Given the description of an element on the screen output the (x, y) to click on. 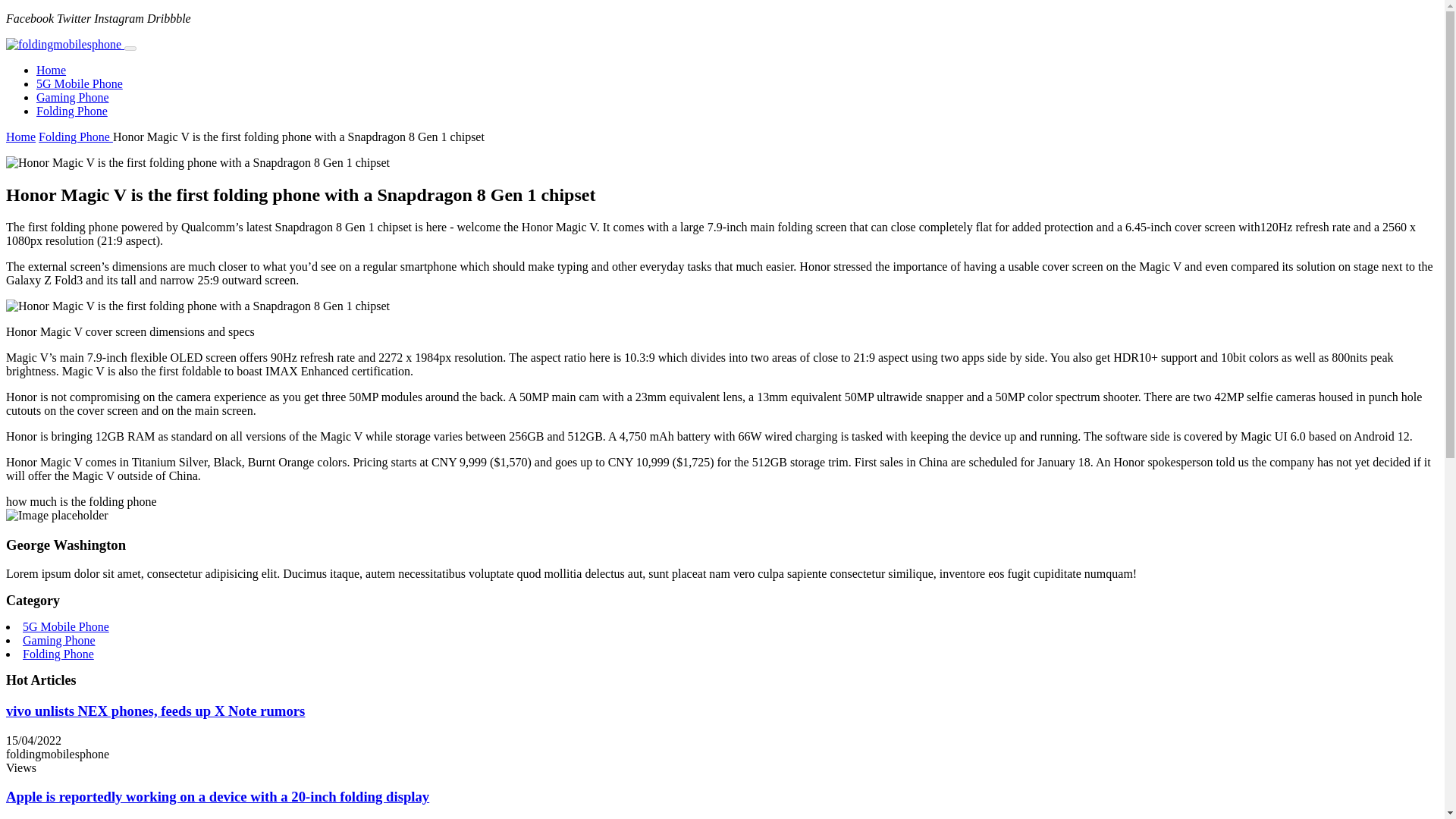
Folding Phone (76, 136)
foldingmobilesphone (57, 753)
5G Mobile Phone (79, 83)
Twitter (73, 18)
Gaming Phone (59, 640)
foldingmobilesphone (62, 44)
5G Mobile Phone (79, 83)
Home (50, 69)
vivo unlists NEX phones, feeds up X Note rumors (154, 710)
Gaming Phone (72, 97)
Home (19, 136)
Facebook (29, 18)
how much is the folding phone (81, 501)
Folding Phone (58, 653)
